Given the description of an element on the screen output the (x, y) to click on. 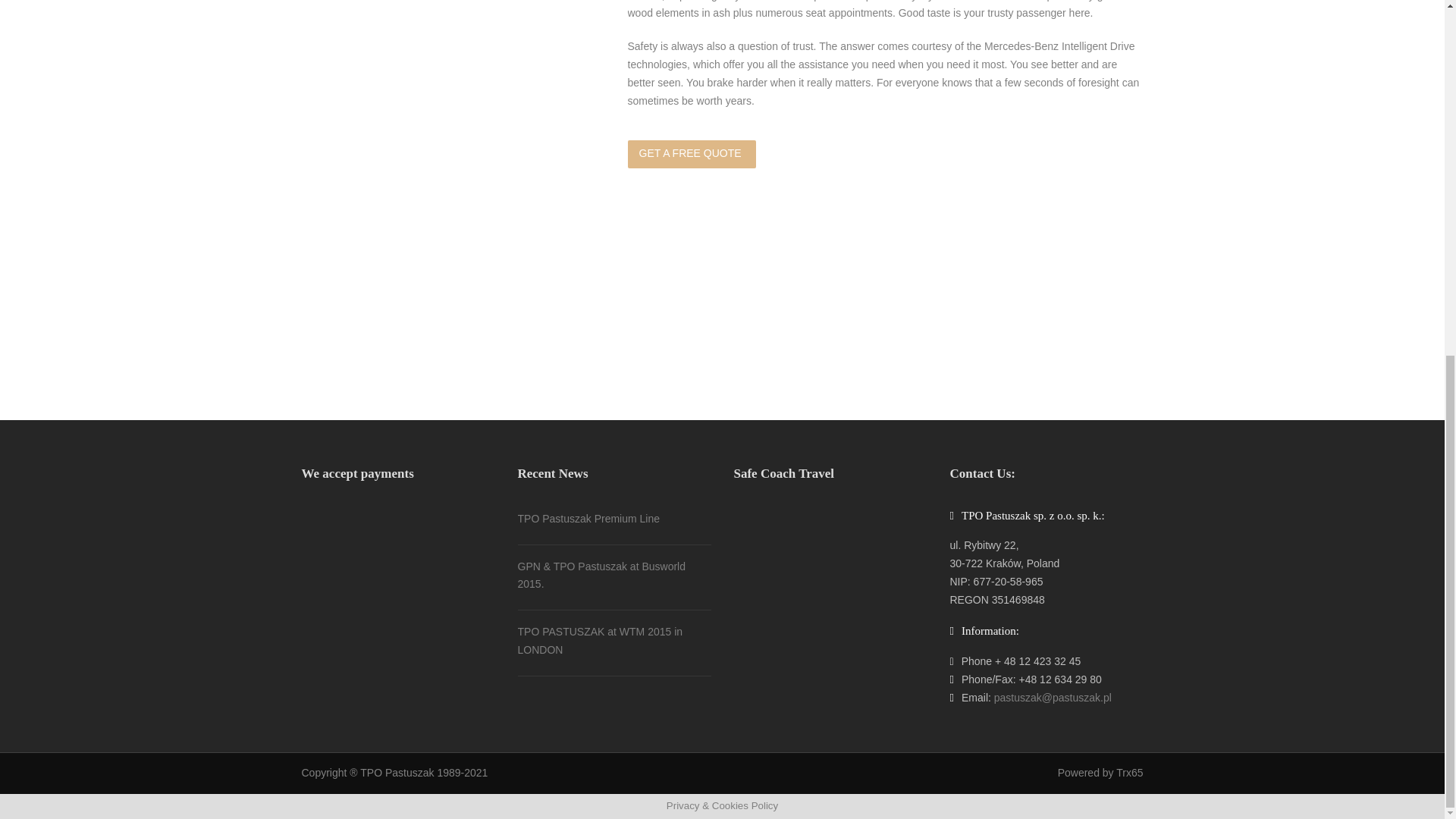
GET A FREE QUOTE  (691, 154)
